Given the description of an element on the screen output the (x, y) to click on. 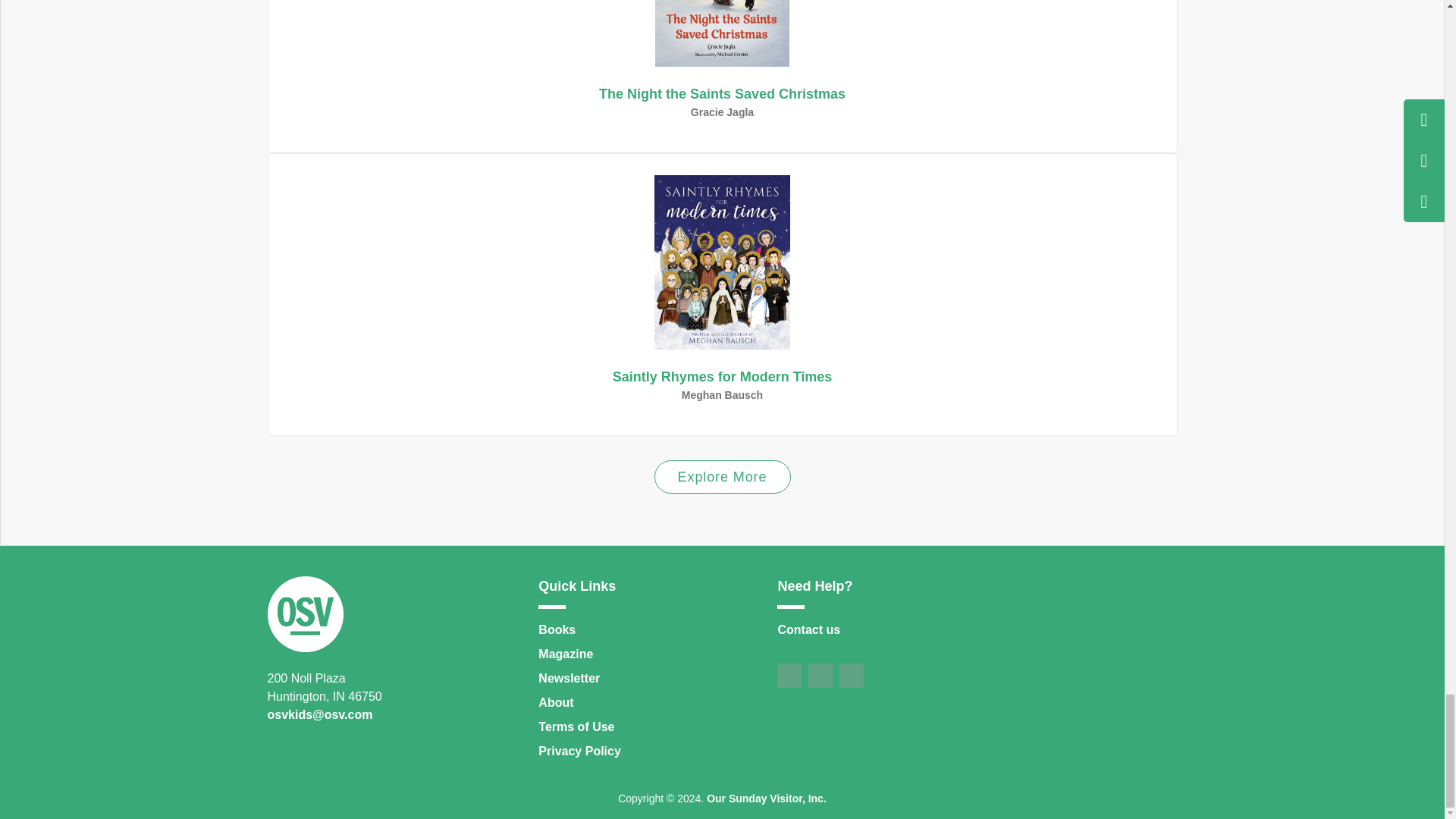
Explore More (721, 88)
